Given the description of an element on the screen output the (x, y) to click on. 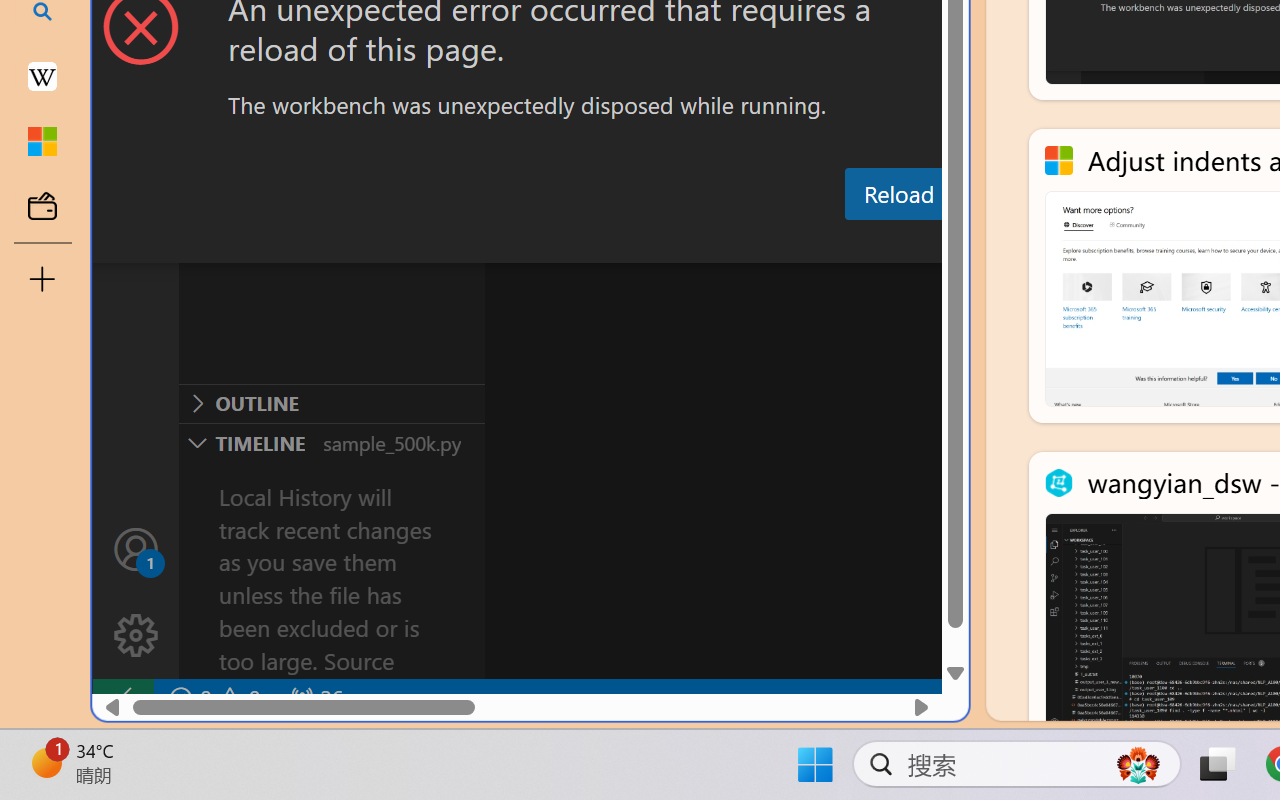
Manage (135, 635)
No Problems (212, 698)
Terminal (Ctrl+`) (1021, 243)
